Given the description of an element on the screen output the (x, y) to click on. 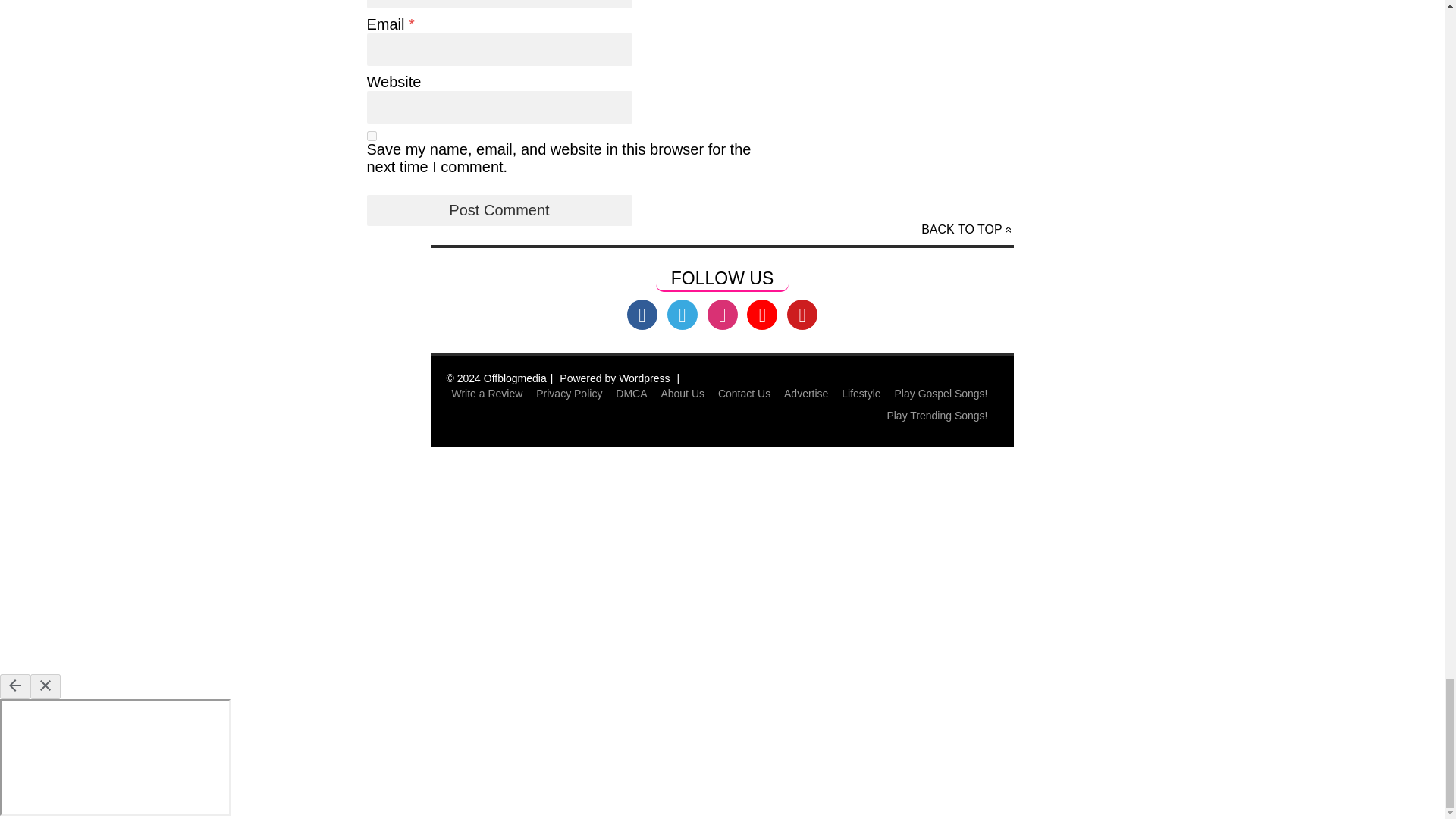
Post Comment (498, 210)
yes (371, 135)
